Given the description of an element on the screen output the (x, y) to click on. 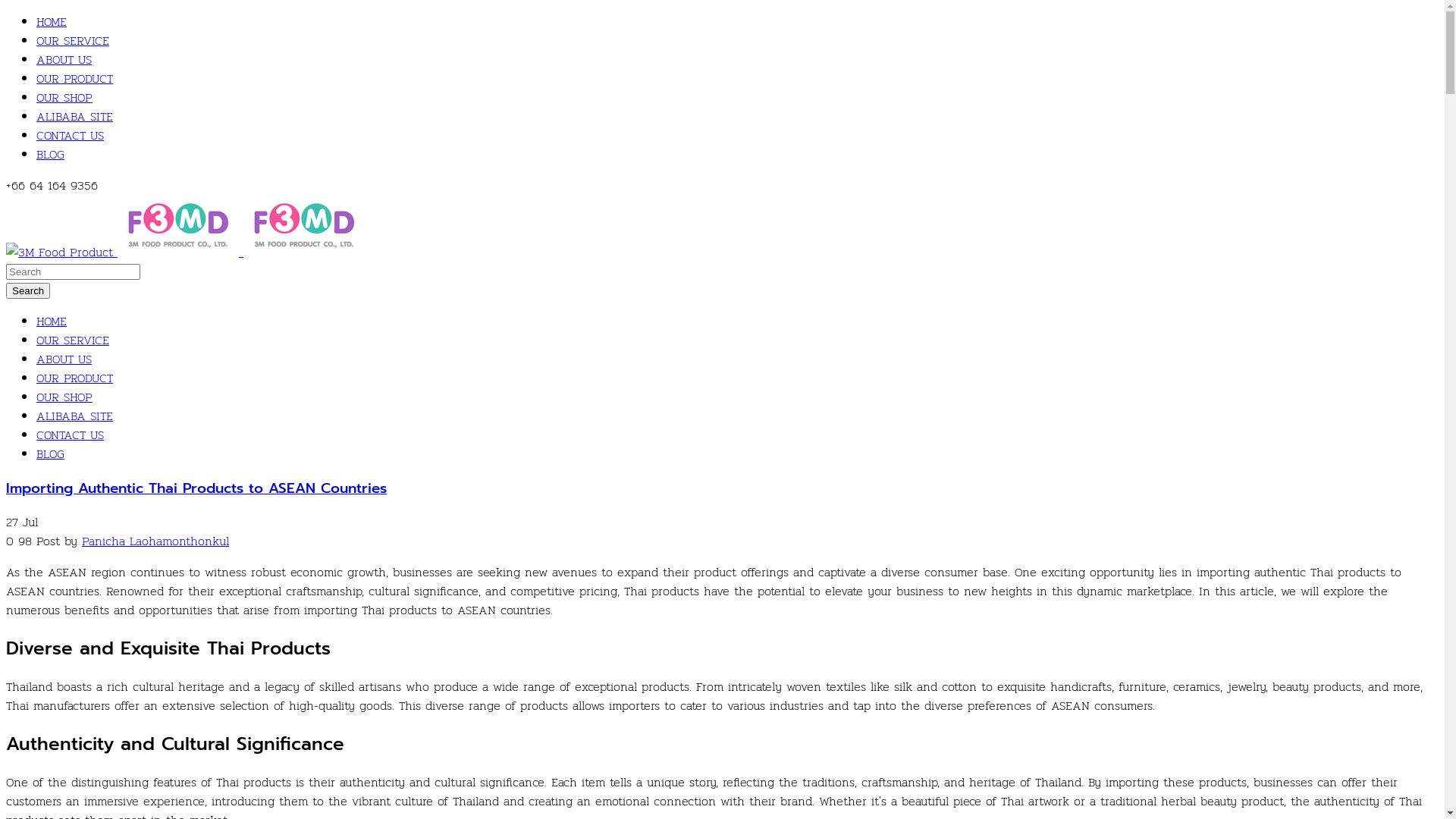
OUR SERVICE Element type: text (72, 339)
ABOUT US Element type: text (63, 358)
3M Food Product Element type: hover (303, 225)
HOME Element type: text (51, 320)
OUR SERVICE Element type: text (72, 40)
CONTACT US Element type: text (69, 134)
Importing Authentic Thai Products to ASEAN Countries Element type: text (196, 487)
ALIBABA SITE Element type: text (74, 115)
OUR SHOP Element type: text (64, 396)
OUR PRODUCT Element type: text (74, 78)
BLOG Element type: text (50, 453)
3M Food Product Element type: hover (59, 251)
ABOUT US Element type: text (63, 59)
ALIBABA SITE Element type: text (74, 415)
OUR PRODUCT Element type: text (74, 377)
CONTACT US Element type: text (69, 434)
Search Element type: text (28, 290)
BLOG Element type: text (50, 153)
Panicha Laohamonthonkul Element type: text (155, 540)
OUR SHOP Element type: text (64, 96)
3M Food Product Element type: hover (177, 225)
HOME Element type: text (51, 21)
